Given the description of an element on the screen output the (x, y) to click on. 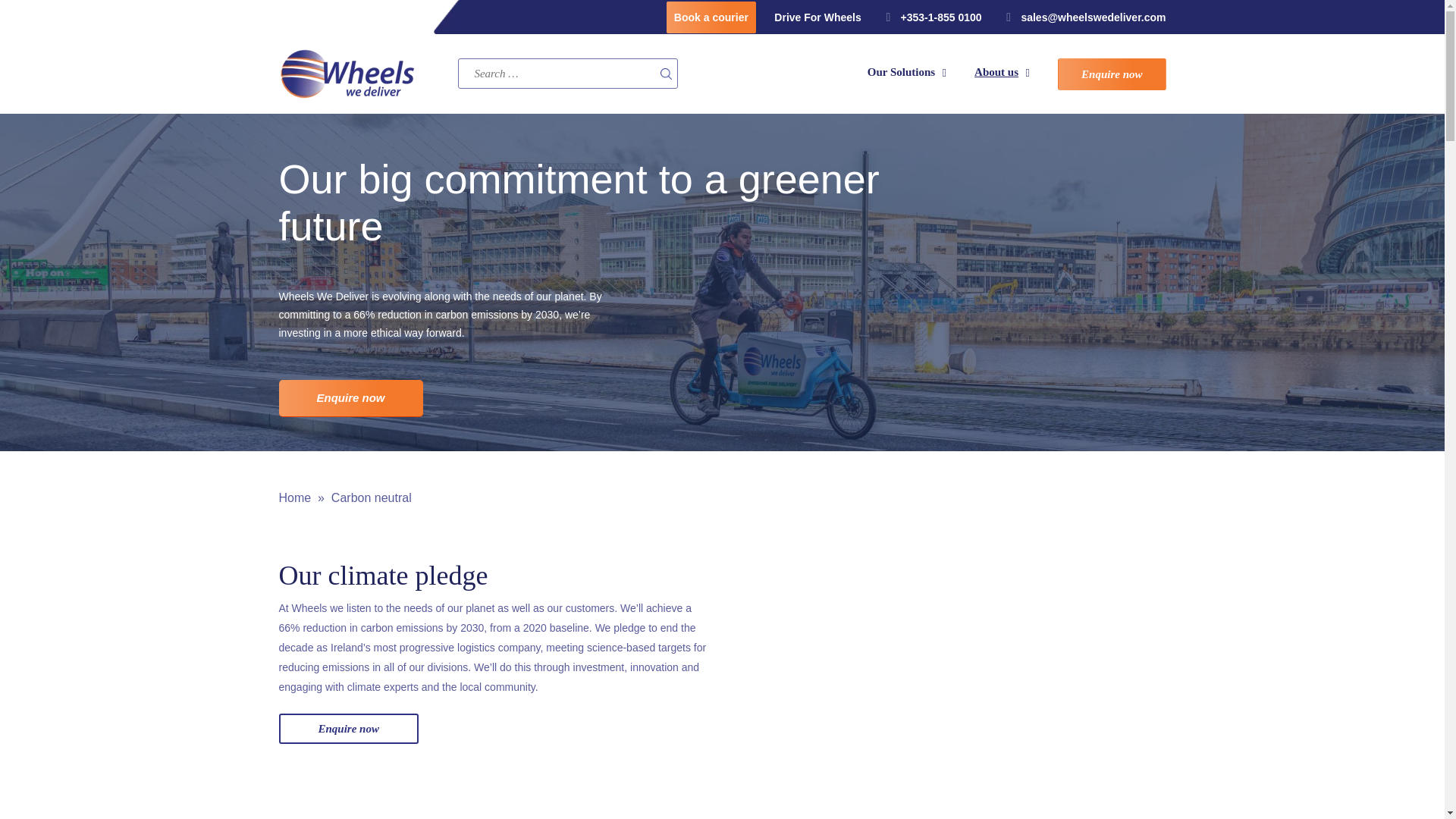
Wheels-We-Deliver (365, 73)
About us (1000, 73)
Book a courier (710, 17)
Enquire now (1112, 74)
Drive For Wheels (817, 16)
YouTube video player (946, 73)
Our Solutions (949, 685)
